Given the description of an element on the screen output the (x, y) to click on. 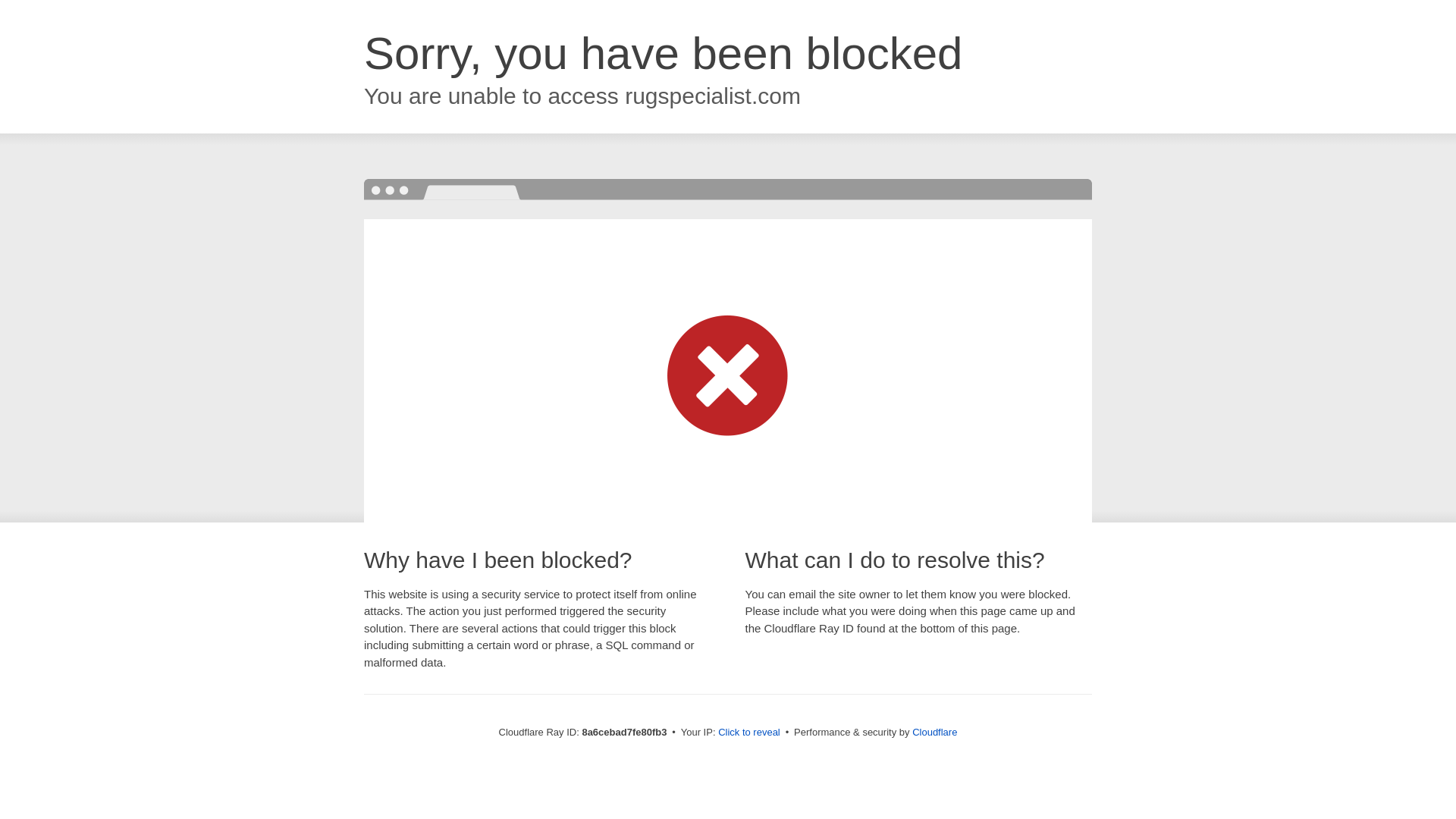
Cloudflare (934, 731)
Click to reveal (748, 732)
